Given the description of an element on the screen output the (x, y) to click on. 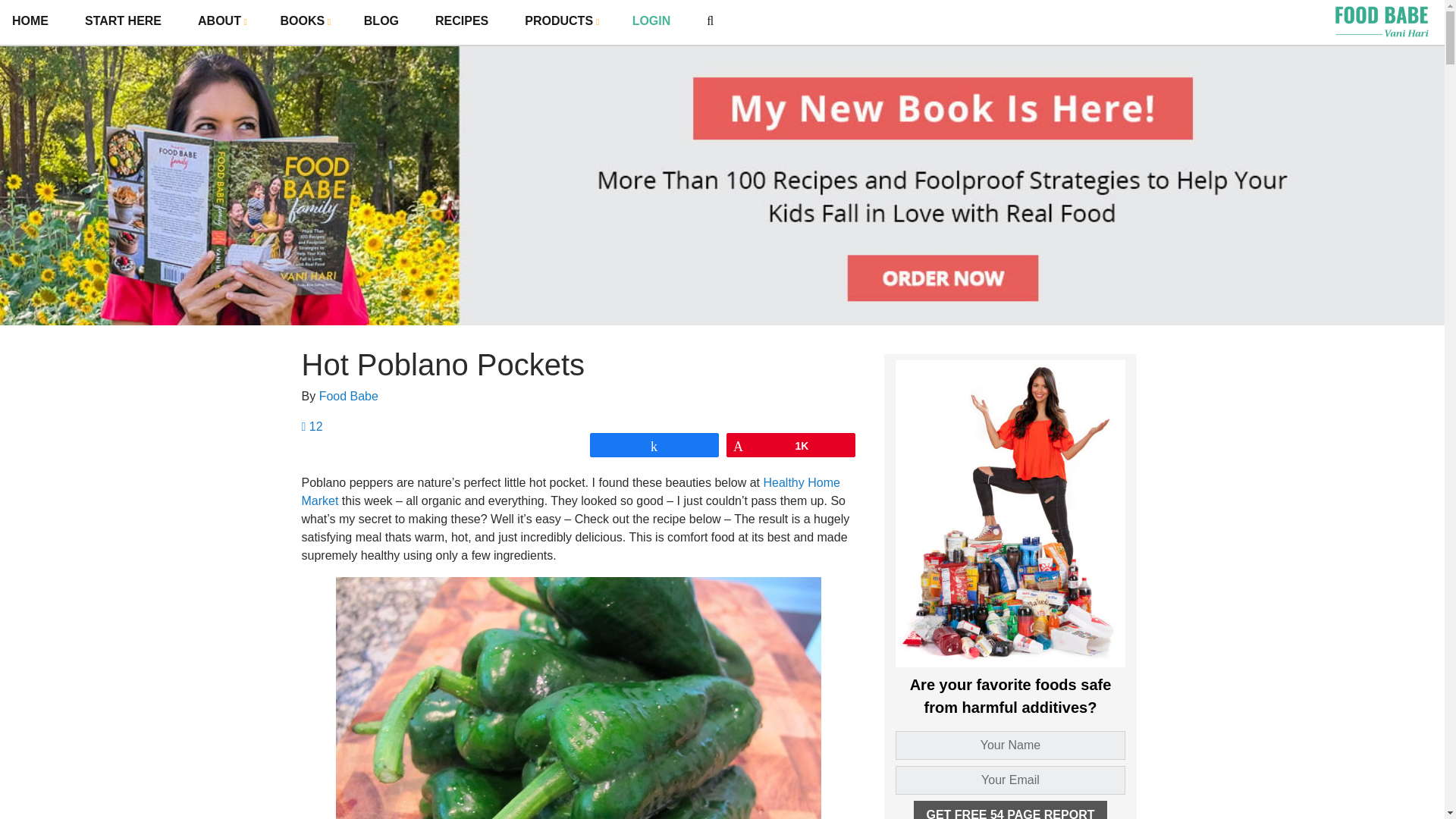
LOGIN (651, 21)
PRODUCTS (559, 20)
START HERE (122, 21)
RECIPES (461, 21)
Food Babe (348, 395)
HOME (29, 21)
BLOG (381, 21)
1K (789, 445)
Healthy Home Market (570, 490)
ABOUT (220, 20)
12 (312, 426)
BOOKS (304, 20)
